Given the description of an element on the screen output the (x, y) to click on. 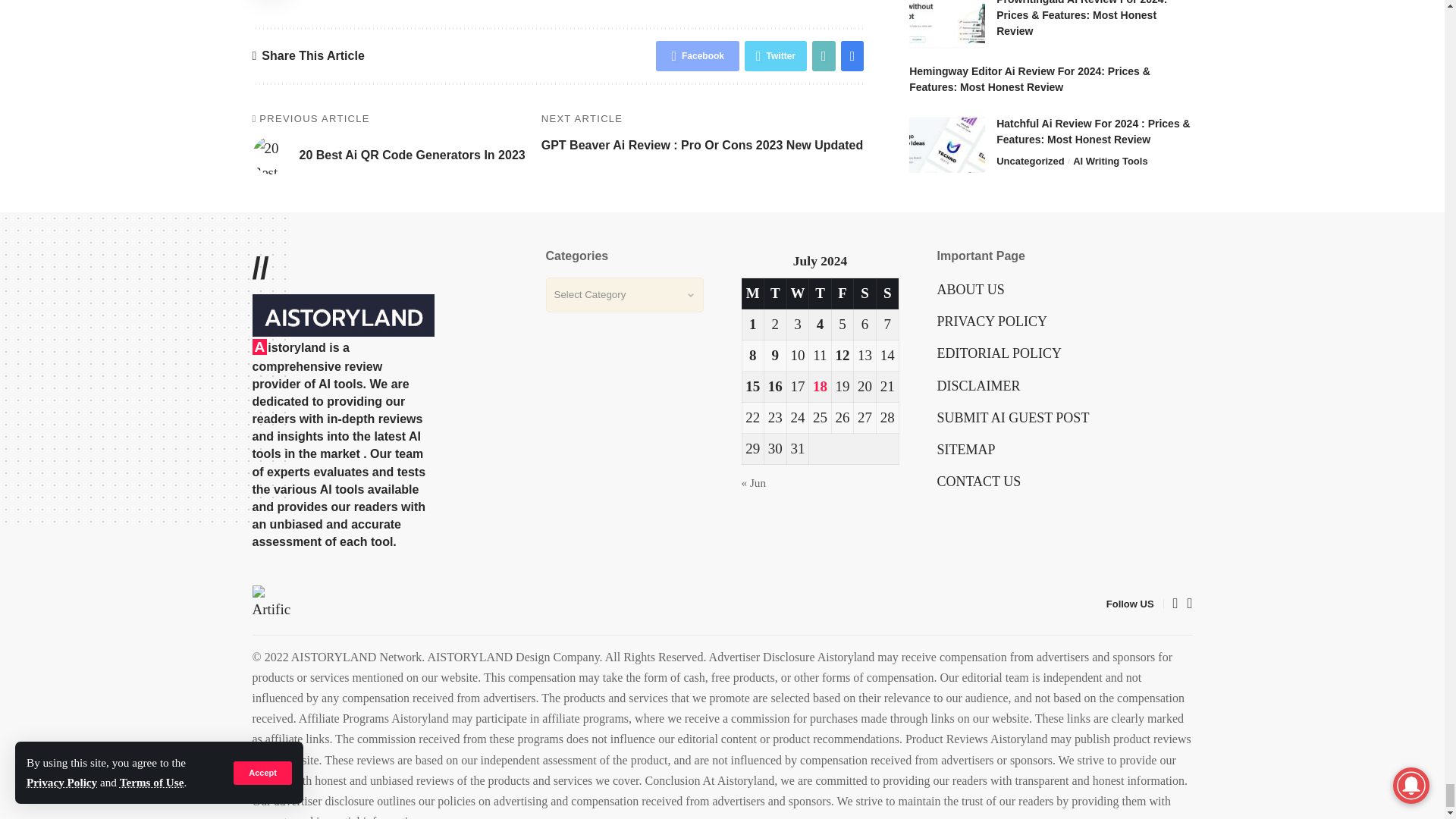
Monday (752, 293)
